Given the description of an element on the screen output the (x, y) to click on. 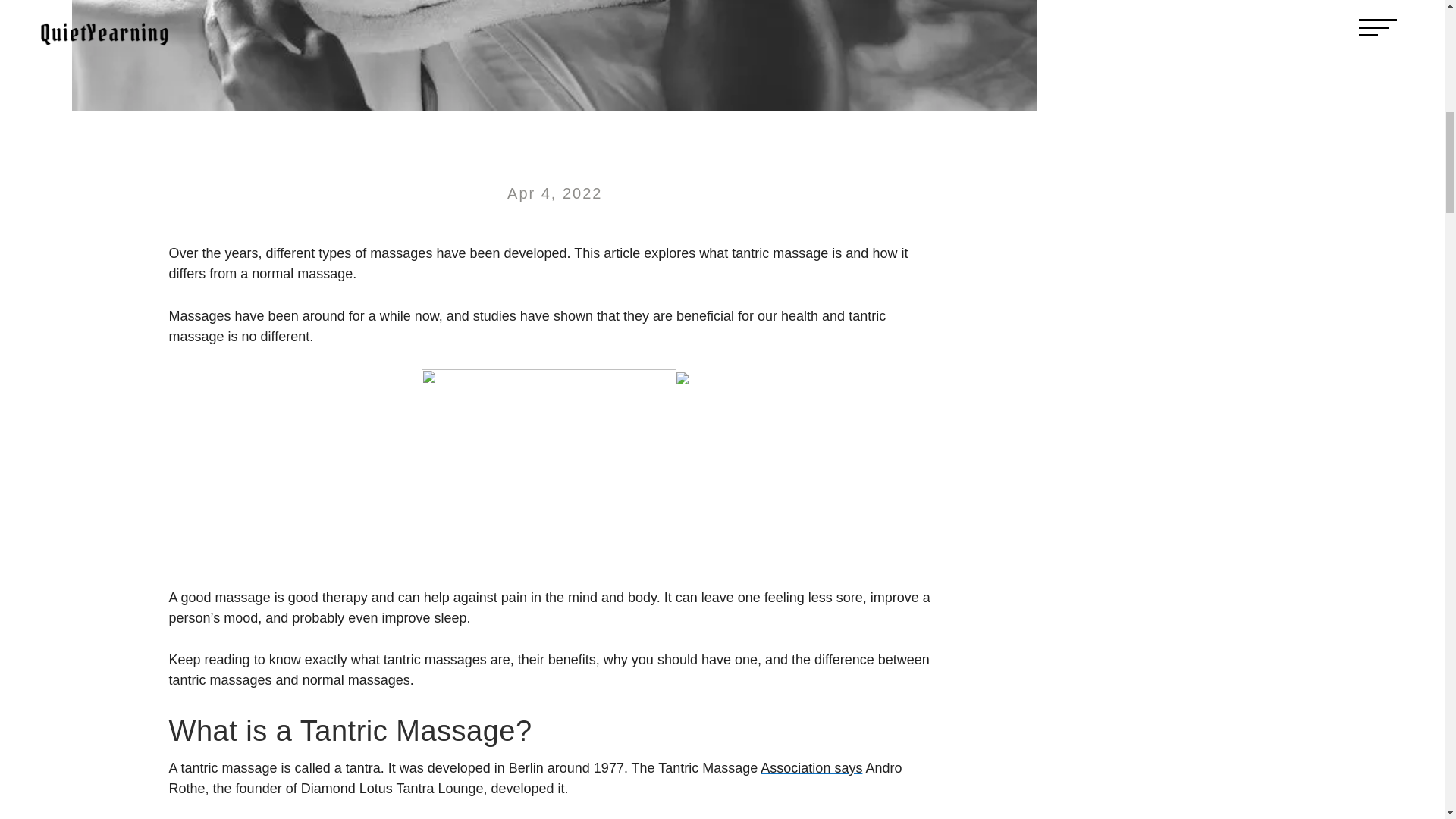
Association says (810, 767)
ale-romo-photography-unsplash (553, 55)
